Given the description of an element on the screen output the (x, y) to click on. 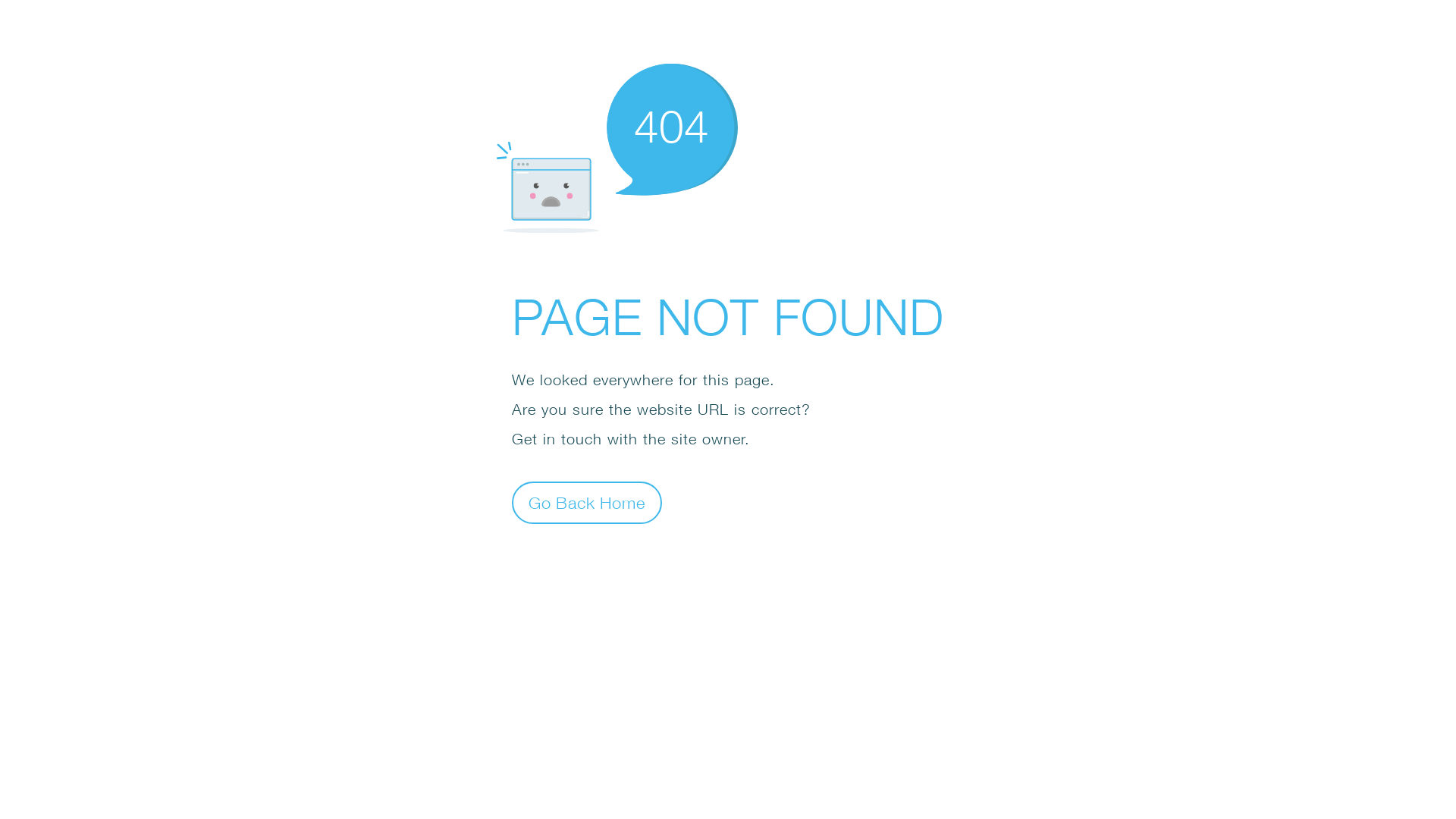
Go Back Home Element type: text (586, 502)
